Given the description of an element on the screen output the (x, y) to click on. 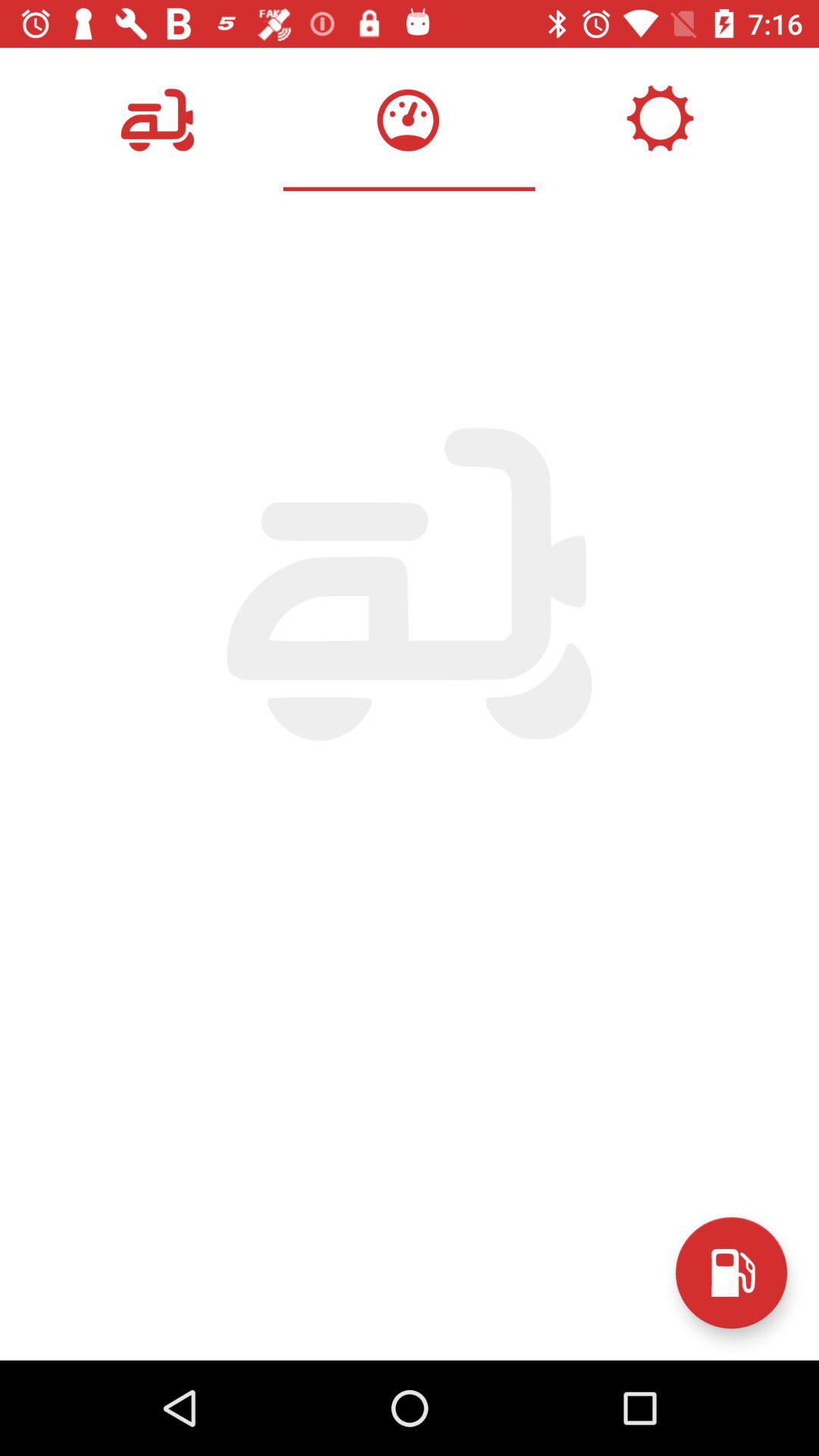
turn on the item at the bottom right corner (731, 1272)
